Given the description of an element on the screen output the (x, y) to click on. 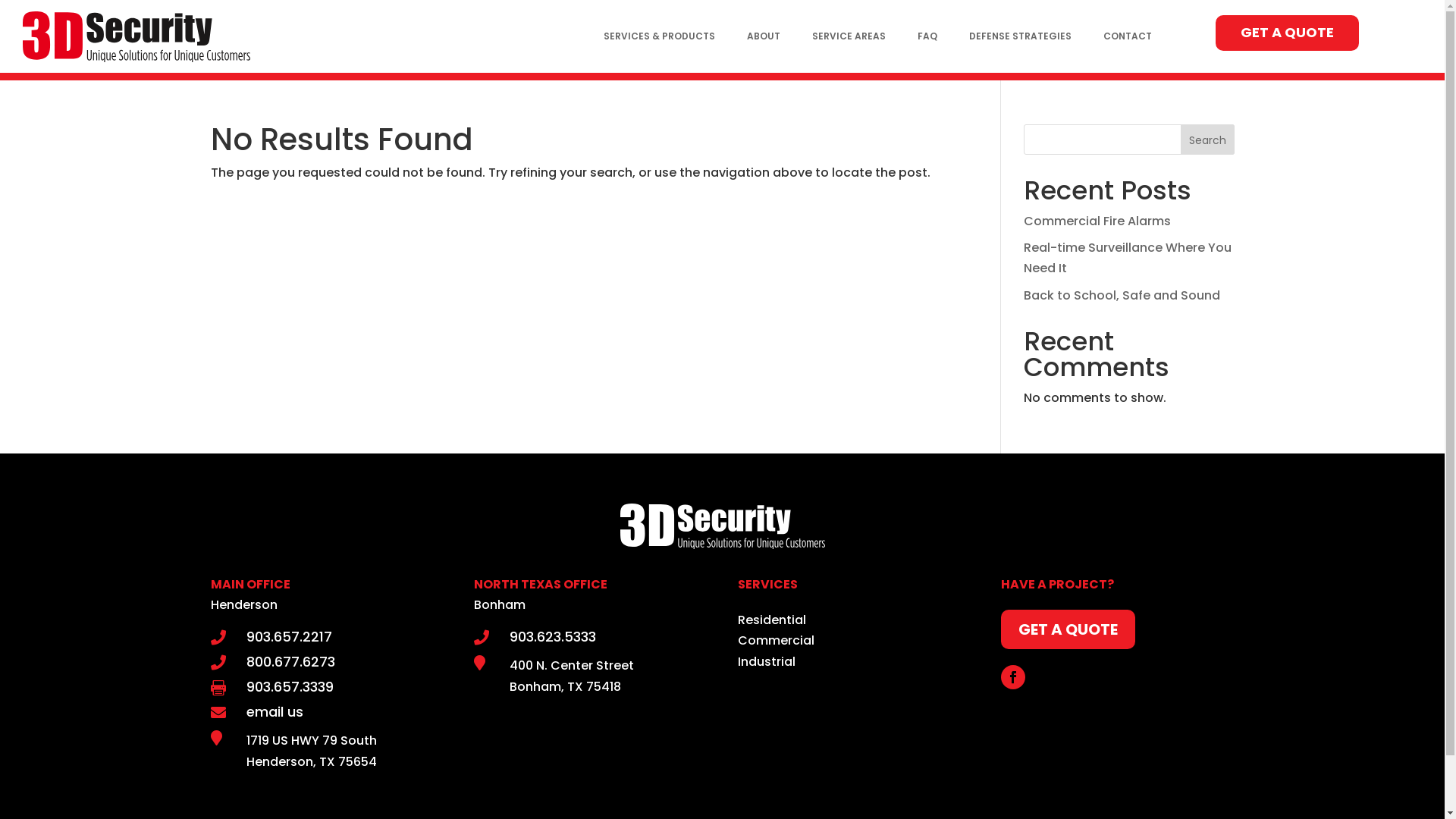
903.657.3339 Element type: text (288, 686)
CONTACT Element type: text (1119, 36)
800.677.6273 Element type: text (289, 661)
SERVICE AREAS Element type: text (841, 36)
GET A QUOTE Element type: text (1286, 32)
Search Element type: text (1207, 139)
DEFENSE STRATEGIES Element type: text (1012, 36)
ABOUT Element type: text (755, 36)
903.623.5333 Element type: text (552, 636)
email us Element type: text (273, 711)
GET A QUOTE Element type: text (1068, 629)
Back to School, Safe and Sound Element type: text (1121, 295)
903.657.2217 Element type: text (288, 636)
FAQ Element type: text (919, 36)
Commercial Fire Alarms Element type: text (1096, 220)
SERVICES & PRODUCTS Element type: text (651, 36)
Follow on Facebook Element type: hover (1013, 676)
Real-time Surveillance Where You Need It Element type: text (1127, 257)
